Given the description of an element on the screen output the (x, y) to click on. 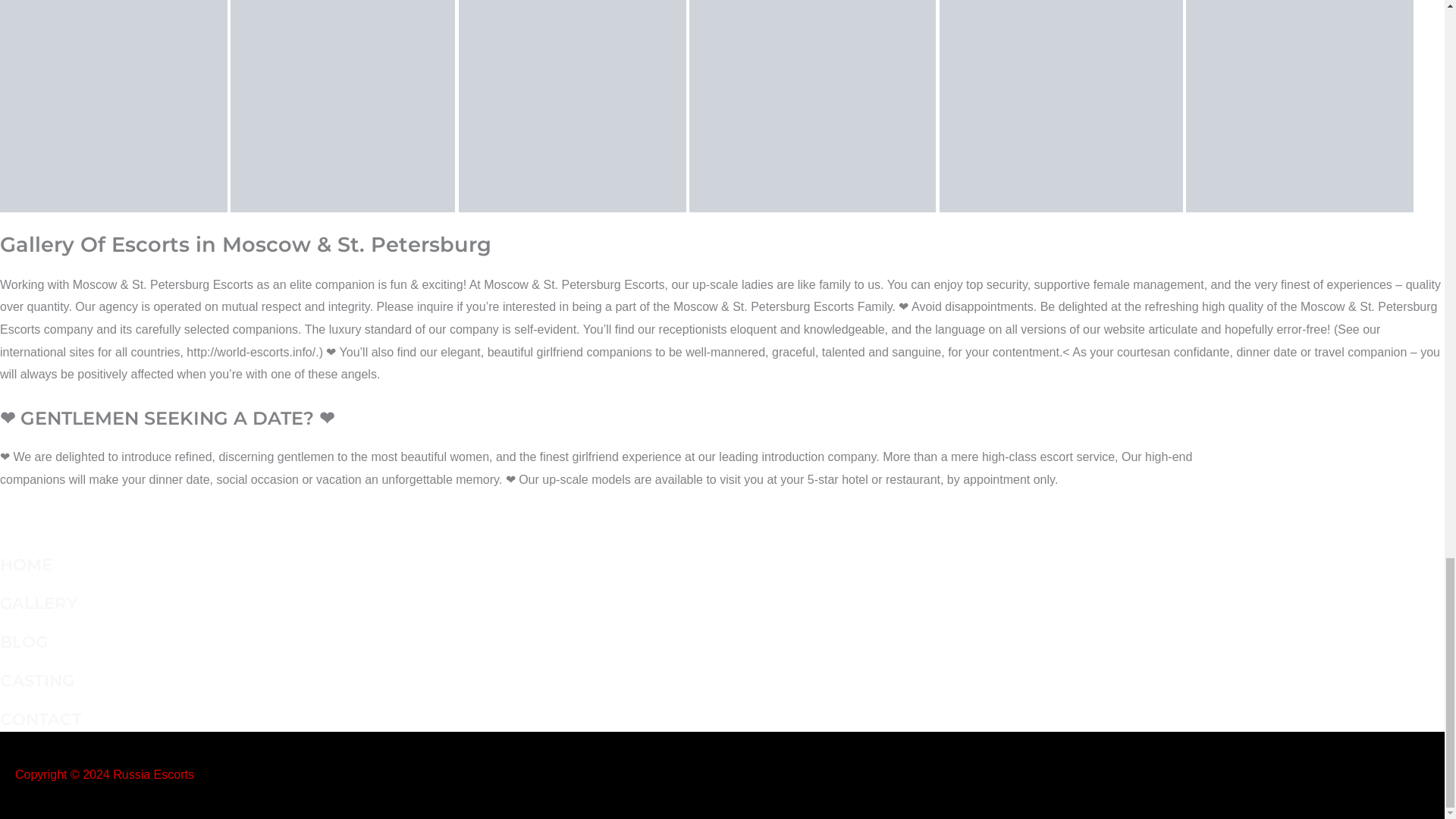
GALLERY (38, 602)
CASTING (37, 680)
HOME (26, 564)
BLOG (24, 641)
